Given the description of an element on the screen output the (x, y) to click on. 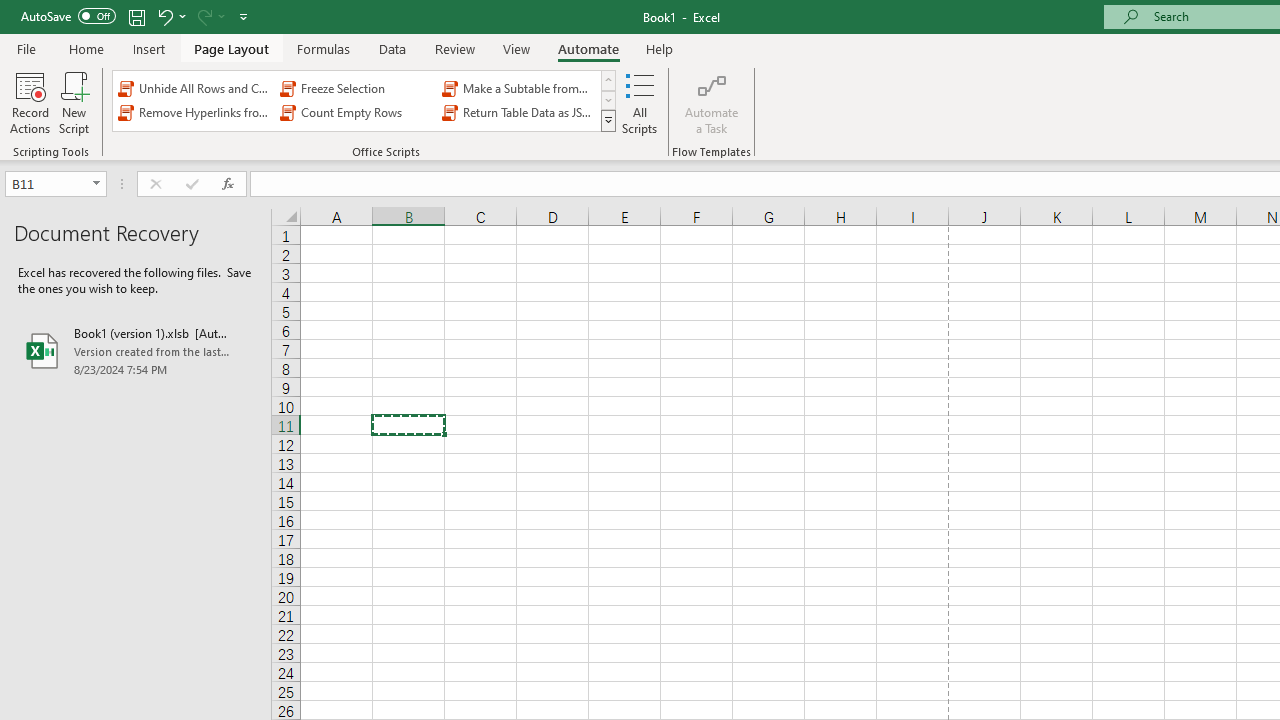
AutomationID: OfficeScriptsGallery (365, 100)
All Scripts (639, 102)
Count Empty Rows (356, 112)
